Given the description of an element on the screen output the (x, y) to click on. 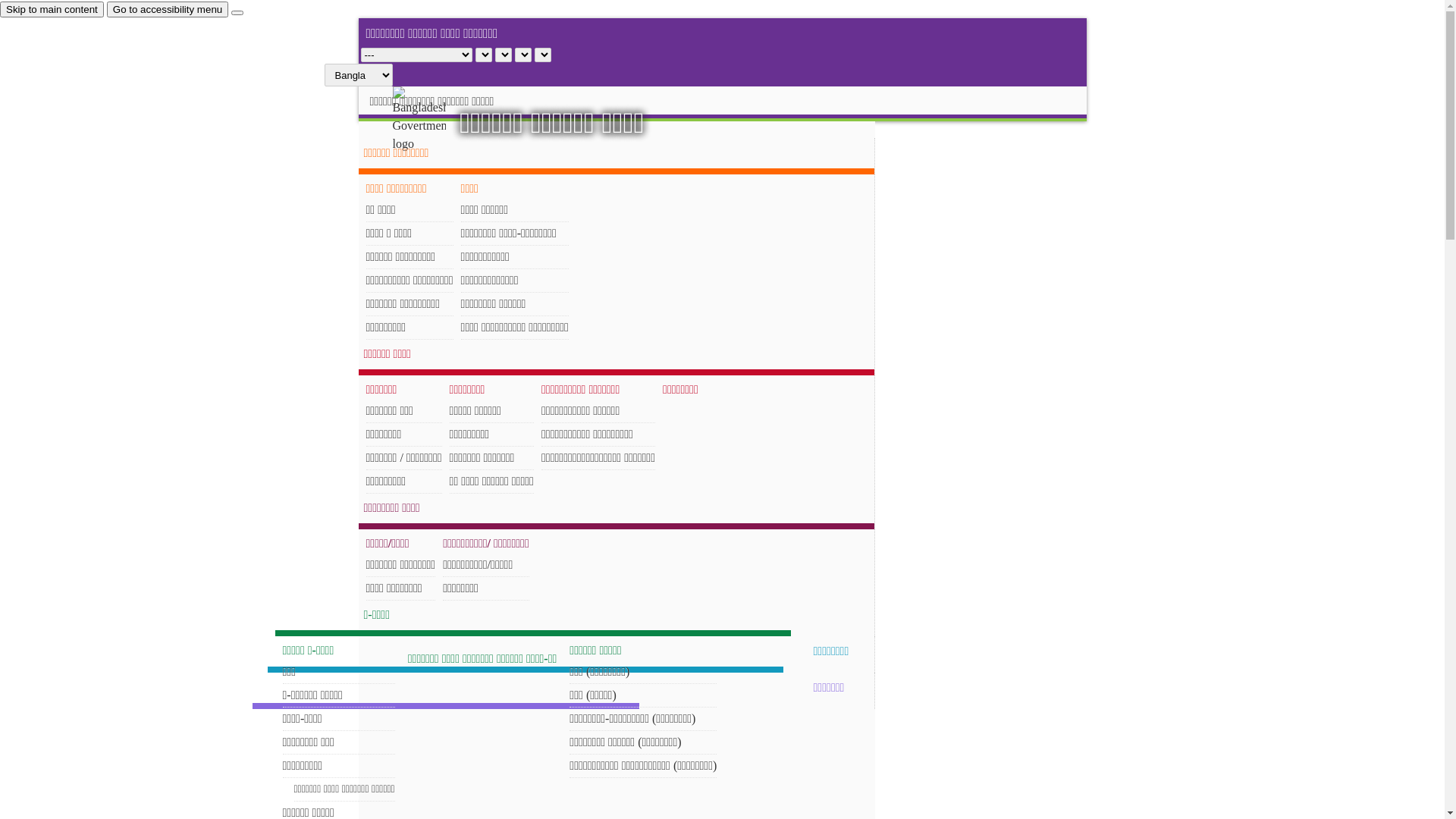
Go to accessibility menu Element type: text (167, 9)
close Element type: hover (237, 12)
Skip to main content Element type: text (51, 9)

                
             Element type: hover (431, 119)
